Given the description of an element on the screen output the (x, y) to click on. 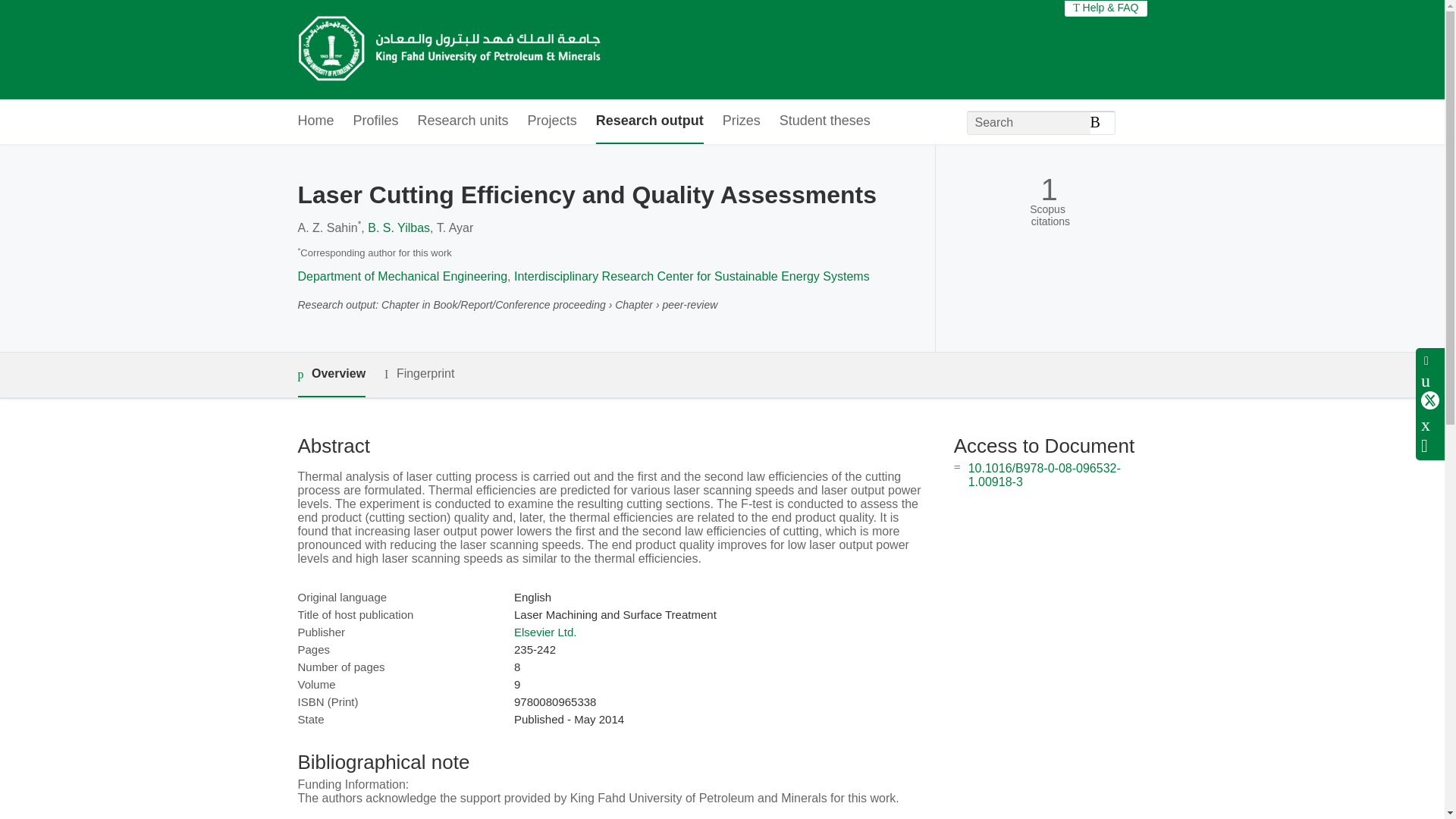
Projects (551, 121)
Elsevier Ltd. (544, 631)
Profiles (375, 121)
B. S. Yilbas (398, 227)
Student theses (824, 121)
Department of Mechanical Engineering (401, 276)
Research units (462, 121)
Fingerprint (419, 373)
